Given the description of an element on the screen output the (x, y) to click on. 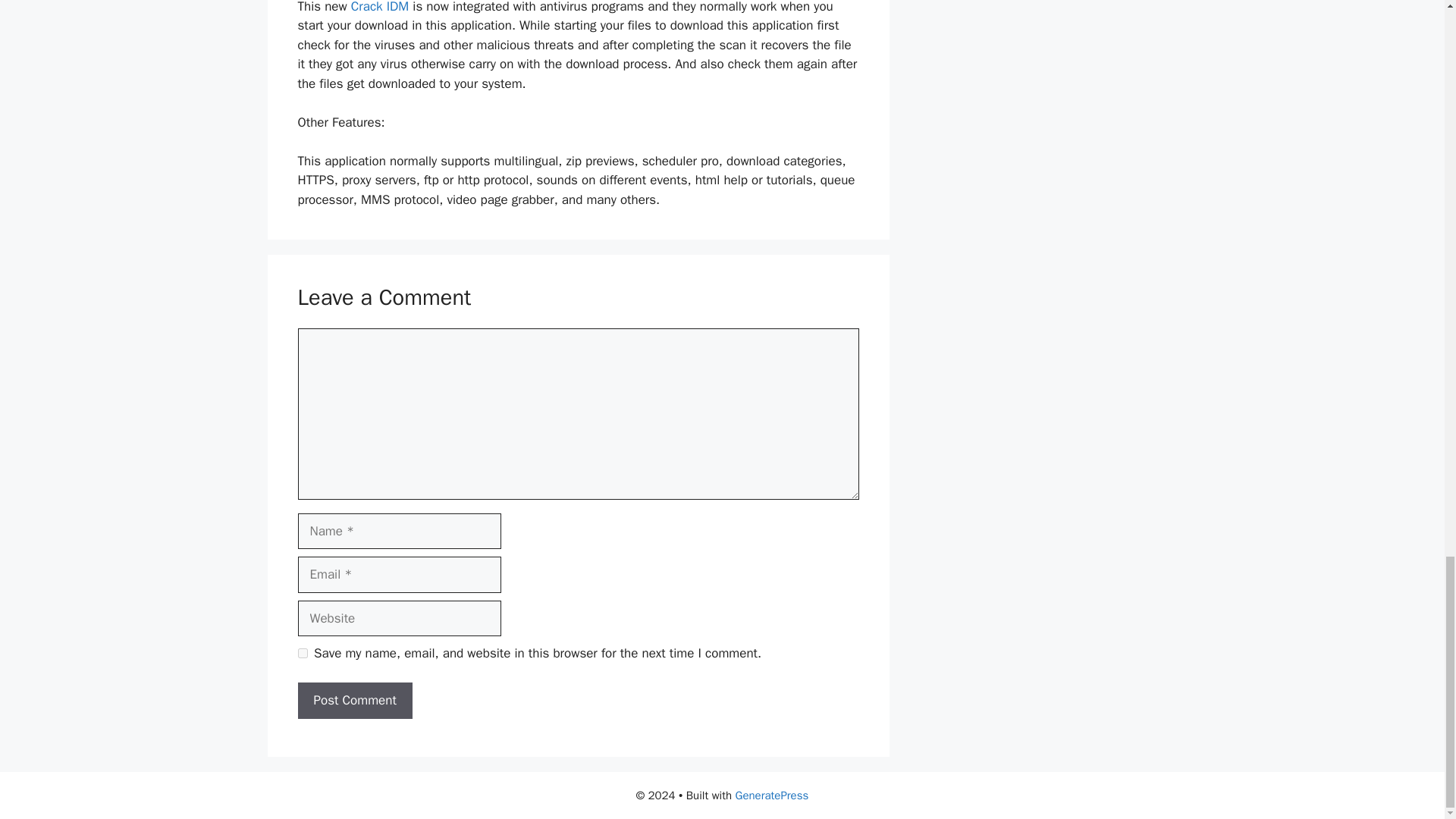
yes (302, 653)
Post Comment (354, 700)
Crack IDM  (381, 7)
Crack IDM (381, 7)
Post Comment (354, 700)
GeneratePress (772, 795)
